Given the description of an element on the screen output the (x, y) to click on. 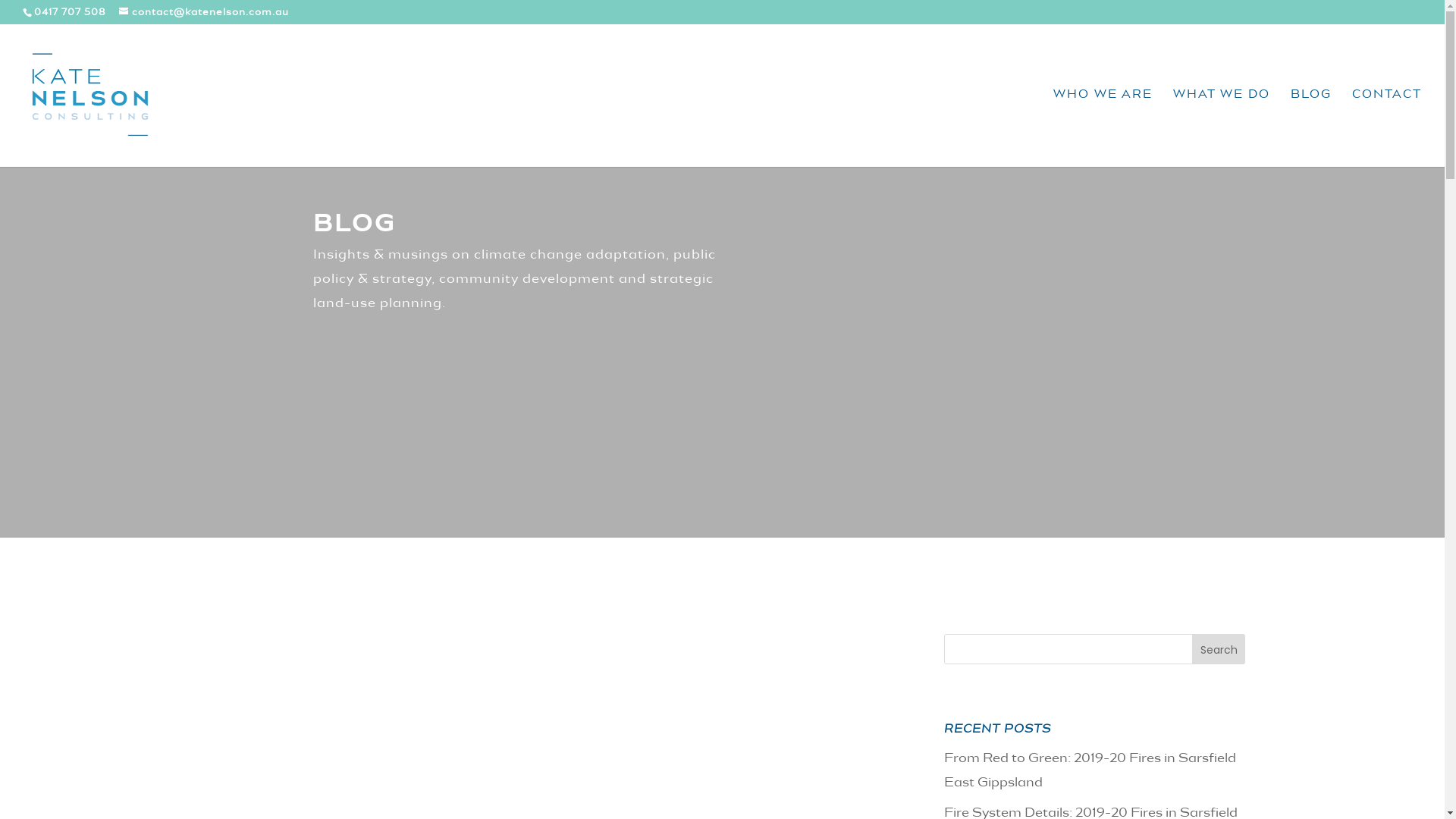
contact@katenelson.com.au Element type: text (203, 12)
From Red to Green: 2019-20 Fires in Sarsfield East Gippsland Element type: text (1090, 771)
Search Element type: text (1218, 648)
CONTACT Element type: text (1386, 127)
WHAT WE DO Element type: text (1221, 127)
BLOG Element type: text (1310, 127)
WHO WE ARE Element type: text (1102, 127)
